Given the description of an element on the screen output the (x, y) to click on. 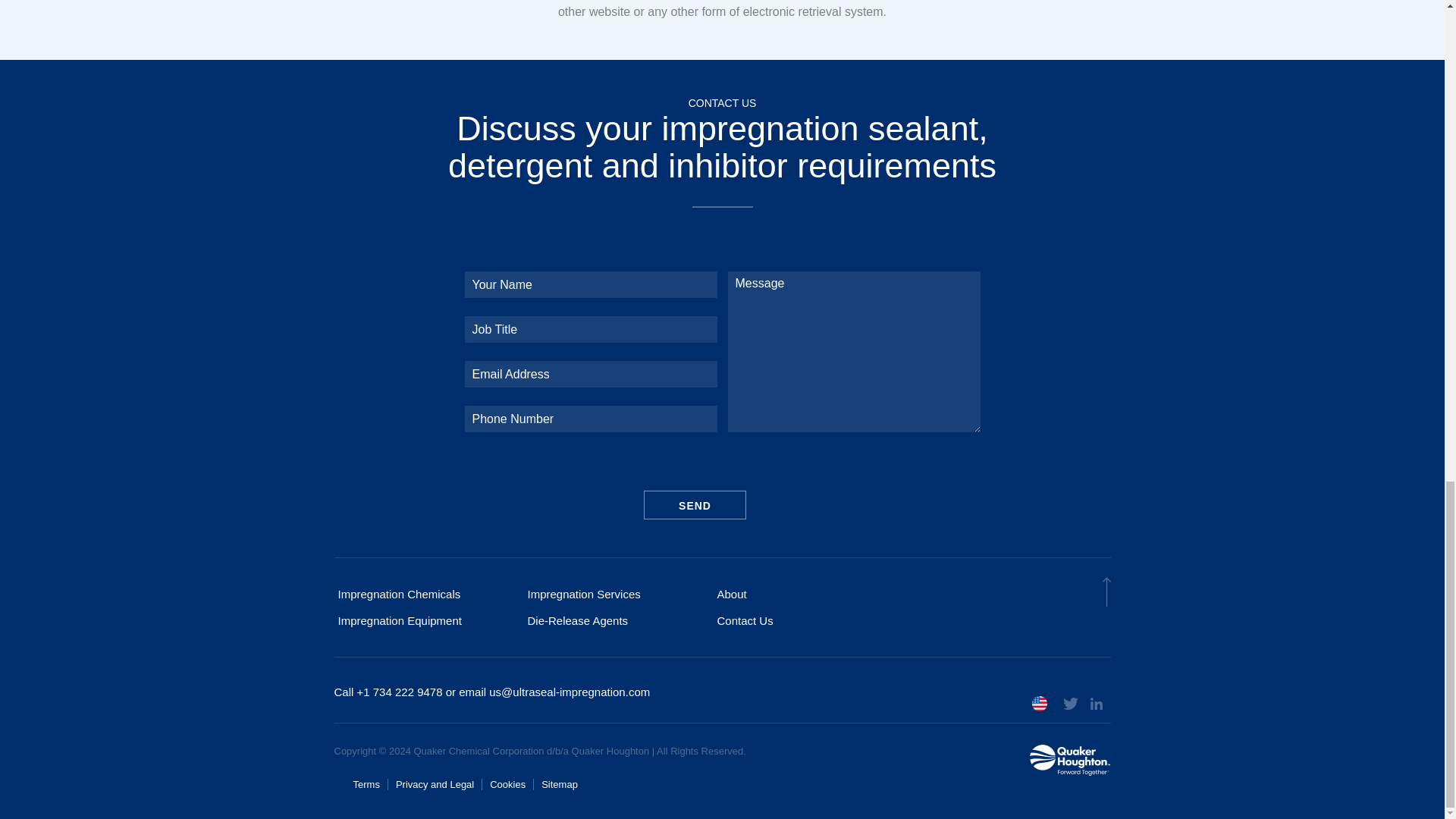
Sitemap (559, 784)
About (807, 593)
Terms (370, 784)
Impregnation Chemicals (427, 593)
Impregnation Services (617, 593)
Contact Us (807, 620)
Die-Release Agents (617, 620)
Cookies (506, 784)
Send (694, 504)
Impregnation Equipment (427, 620)
Send (694, 504)
Privacy and Legal (434, 784)
